Given the description of an element on the screen output the (x, y) to click on. 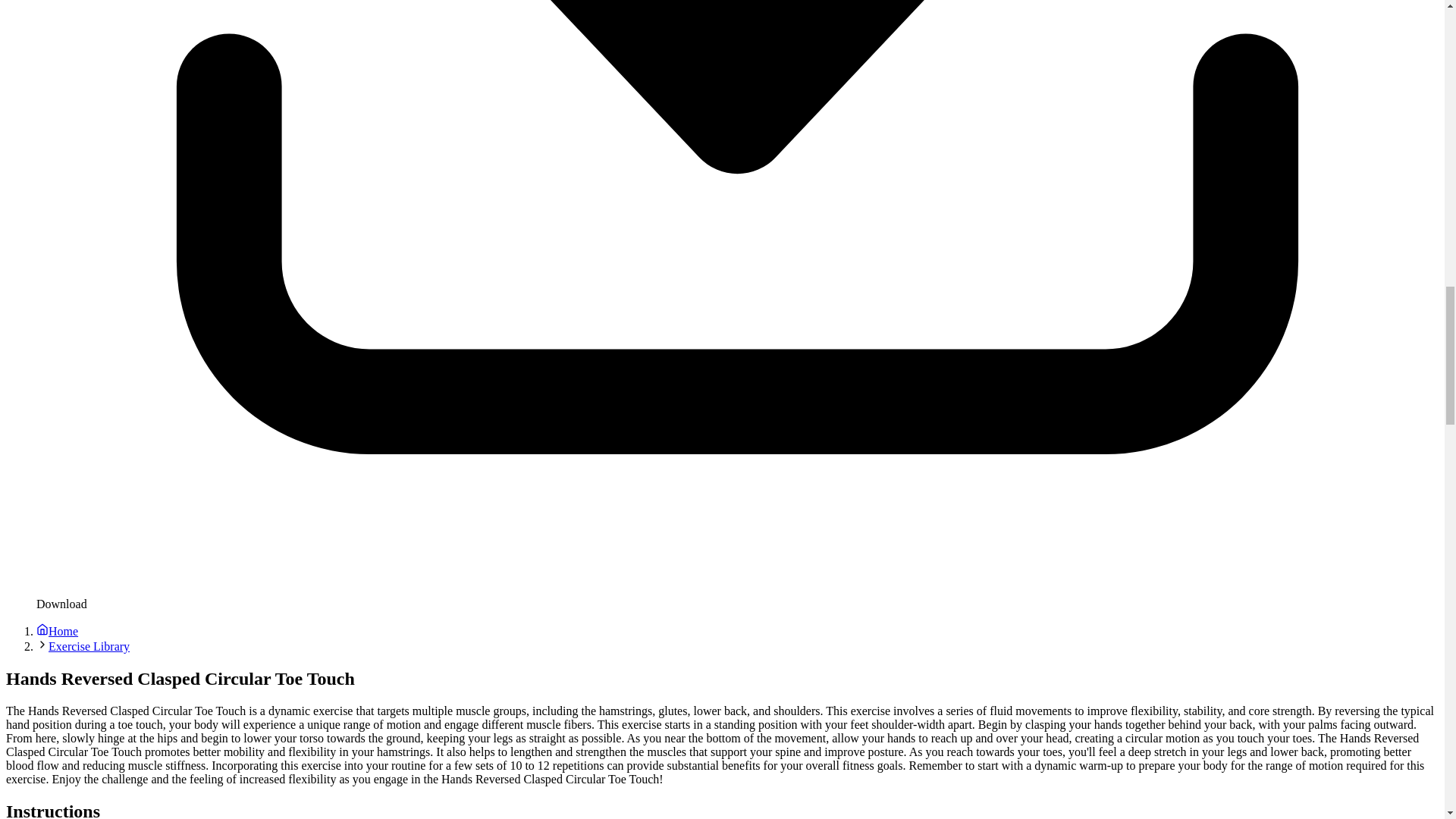
Exercise Library (88, 645)
Home (57, 631)
